Given the description of an element on the screen output the (x, y) to click on. 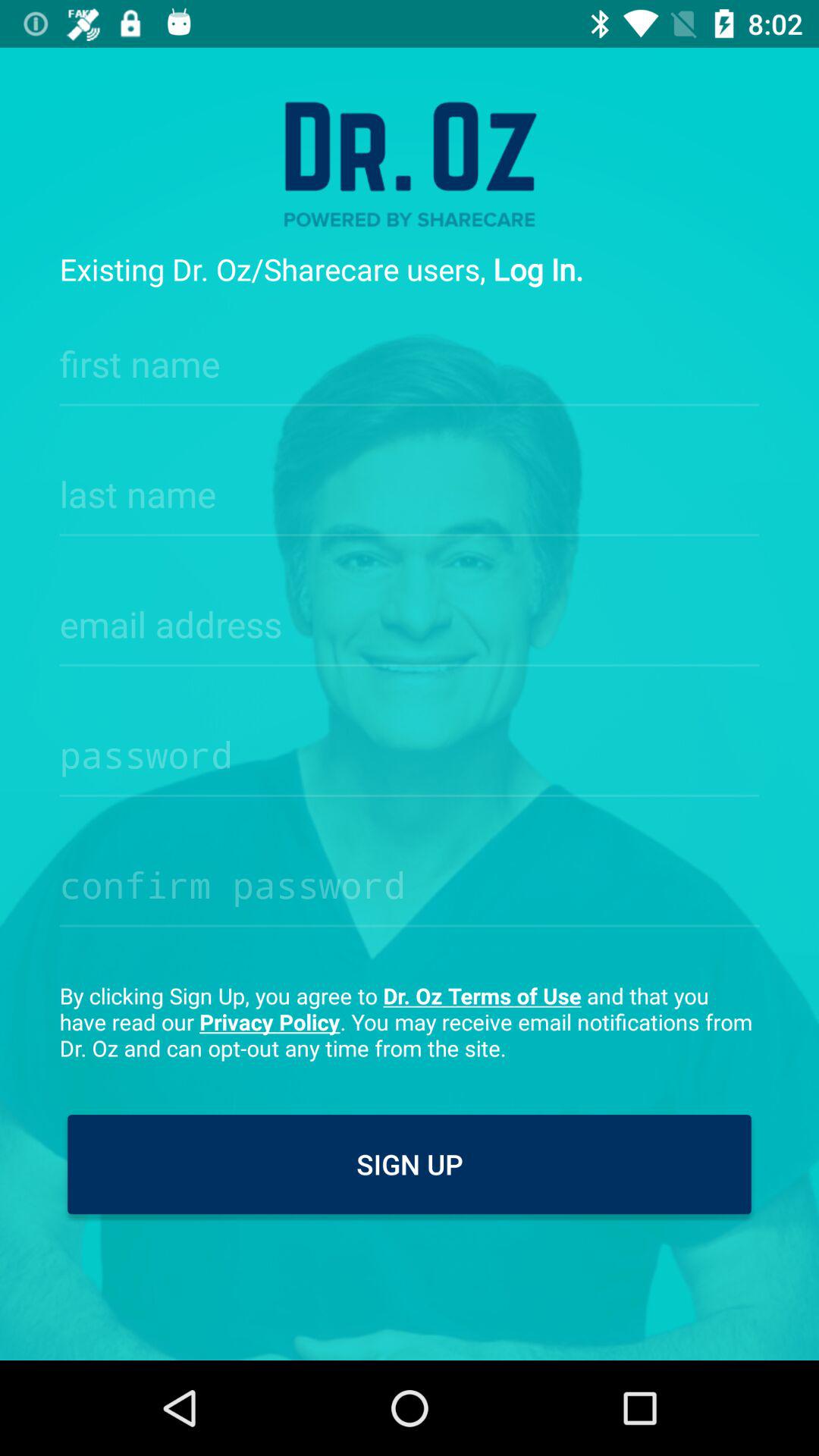
write the first name (409, 359)
